Given the description of an element on the screen output the (x, y) to click on. 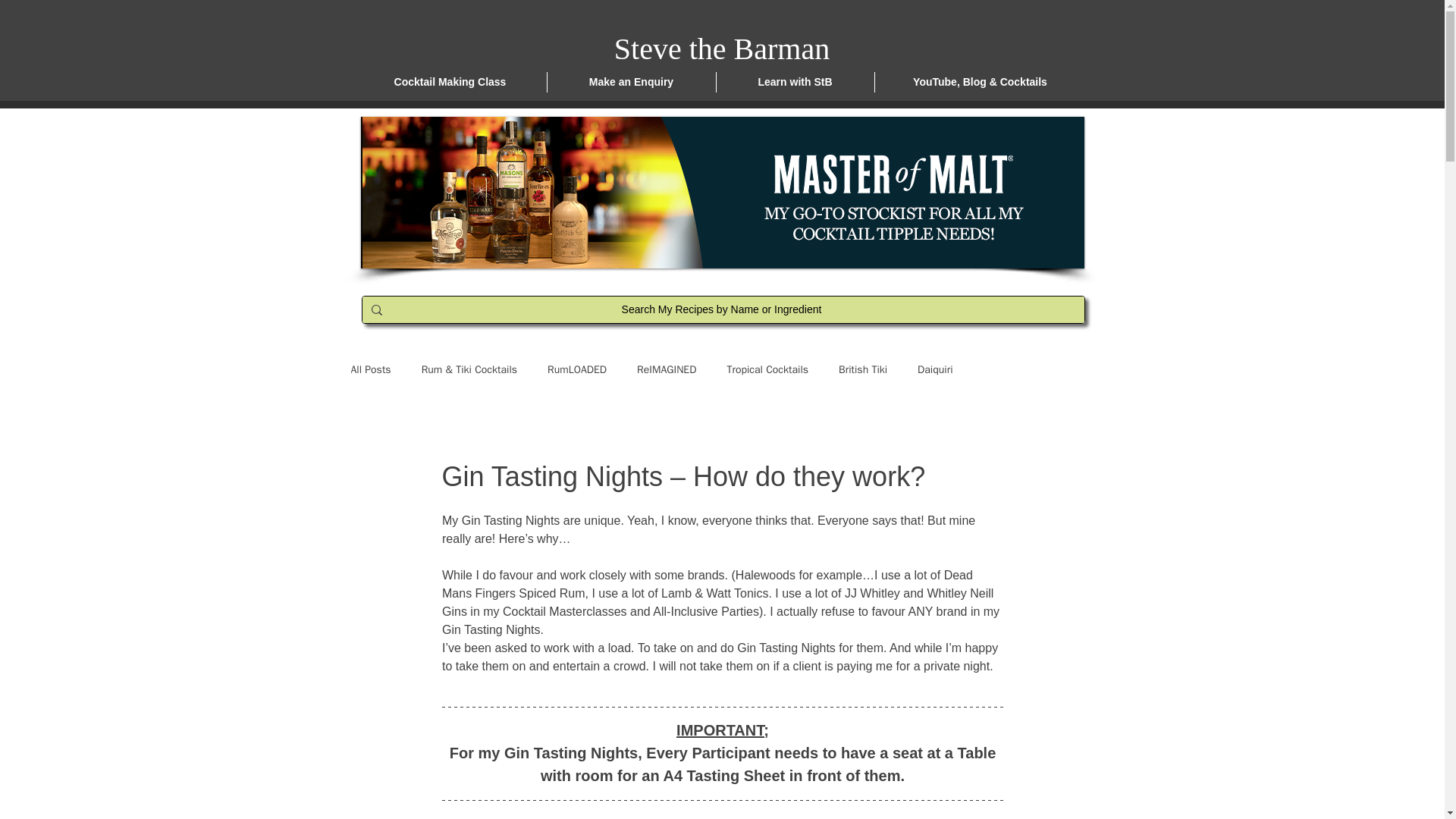
British Tiki (862, 369)
Steve the Barman (721, 48)
All Posts (370, 369)
ReIMAGINED (666, 369)
Daiquiri (934, 369)
RumLOADED (577, 369)
Make an Enquiry (631, 82)
Cocktail Making Class (449, 82)
Learn with StB (794, 82)
Tropical Cocktails (767, 369)
